Given the description of an element on the screen output the (x, y) to click on. 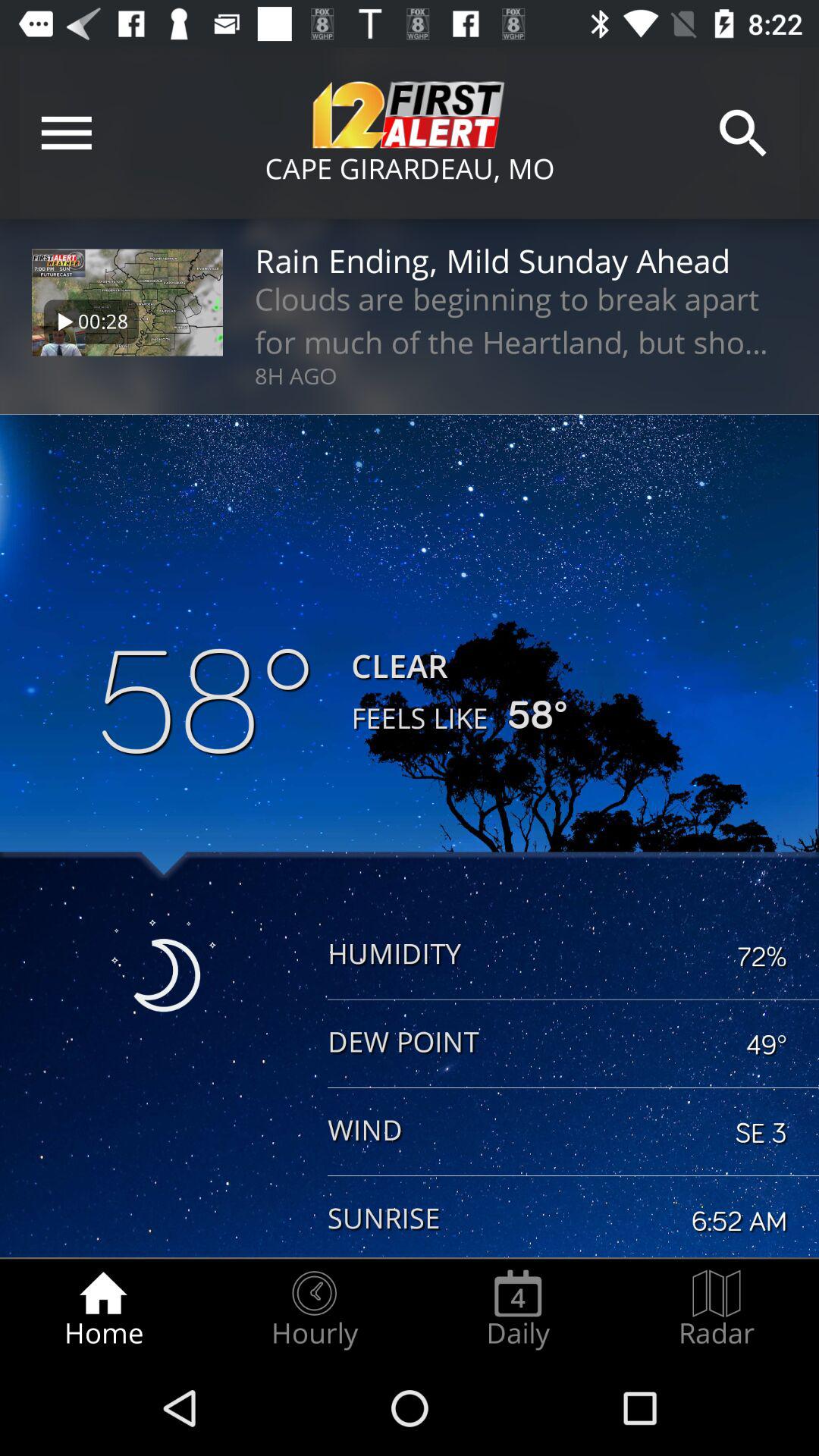
click icon to the left of the daily (314, 1309)
